Given the description of an element on the screen output the (x, y) to click on. 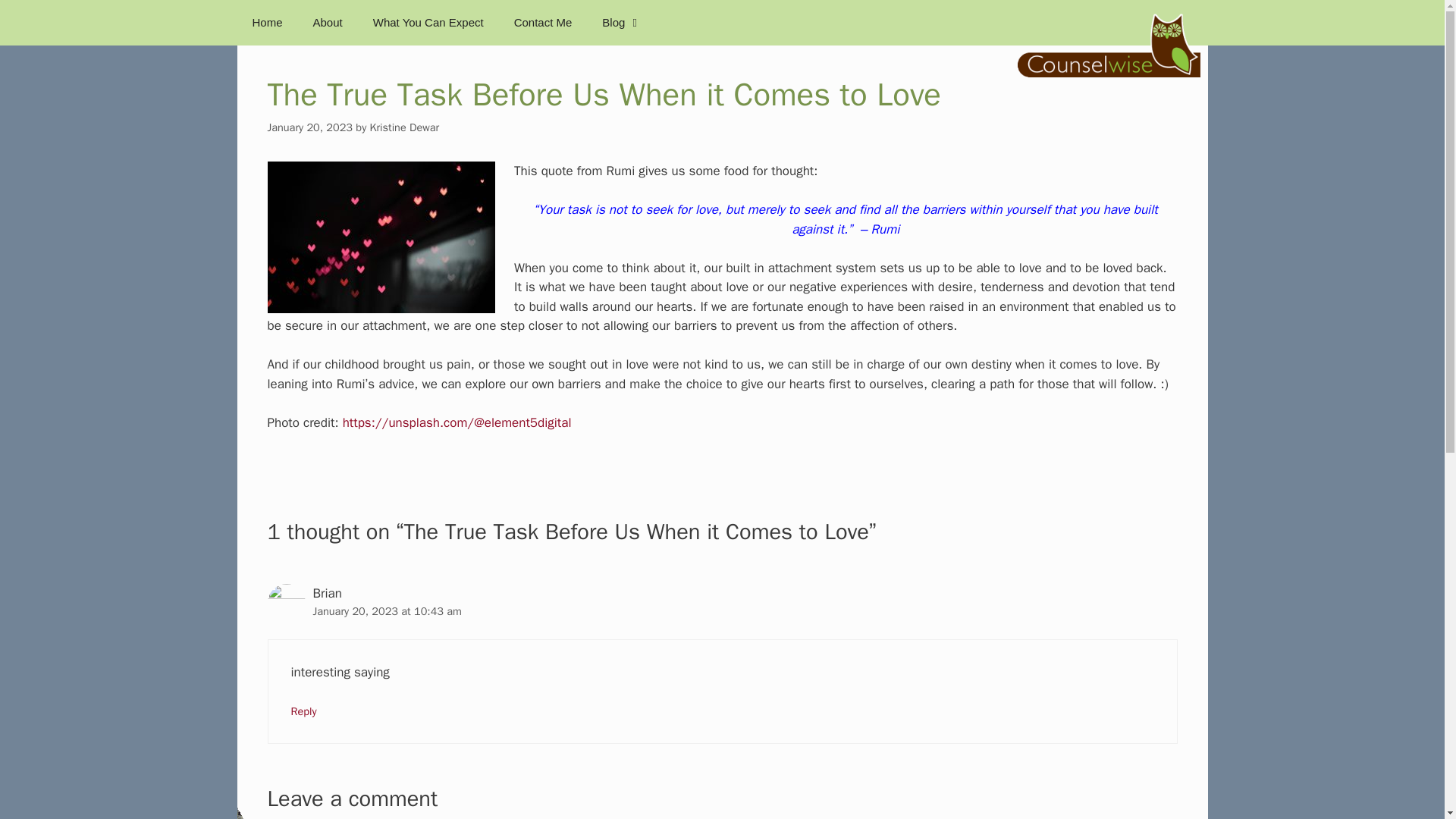
January 20, 2023 at 10:43 am (387, 611)
Home (266, 22)
Contact Me (543, 22)
View all posts by Kristine Dewar (404, 127)
Counselwise (1108, 42)
About (328, 22)
Reply (304, 711)
Kristine Dewar (404, 127)
Blog (621, 22)
What You Can Expect (428, 22)
